Given the description of an element on the screen output the (x, y) to click on. 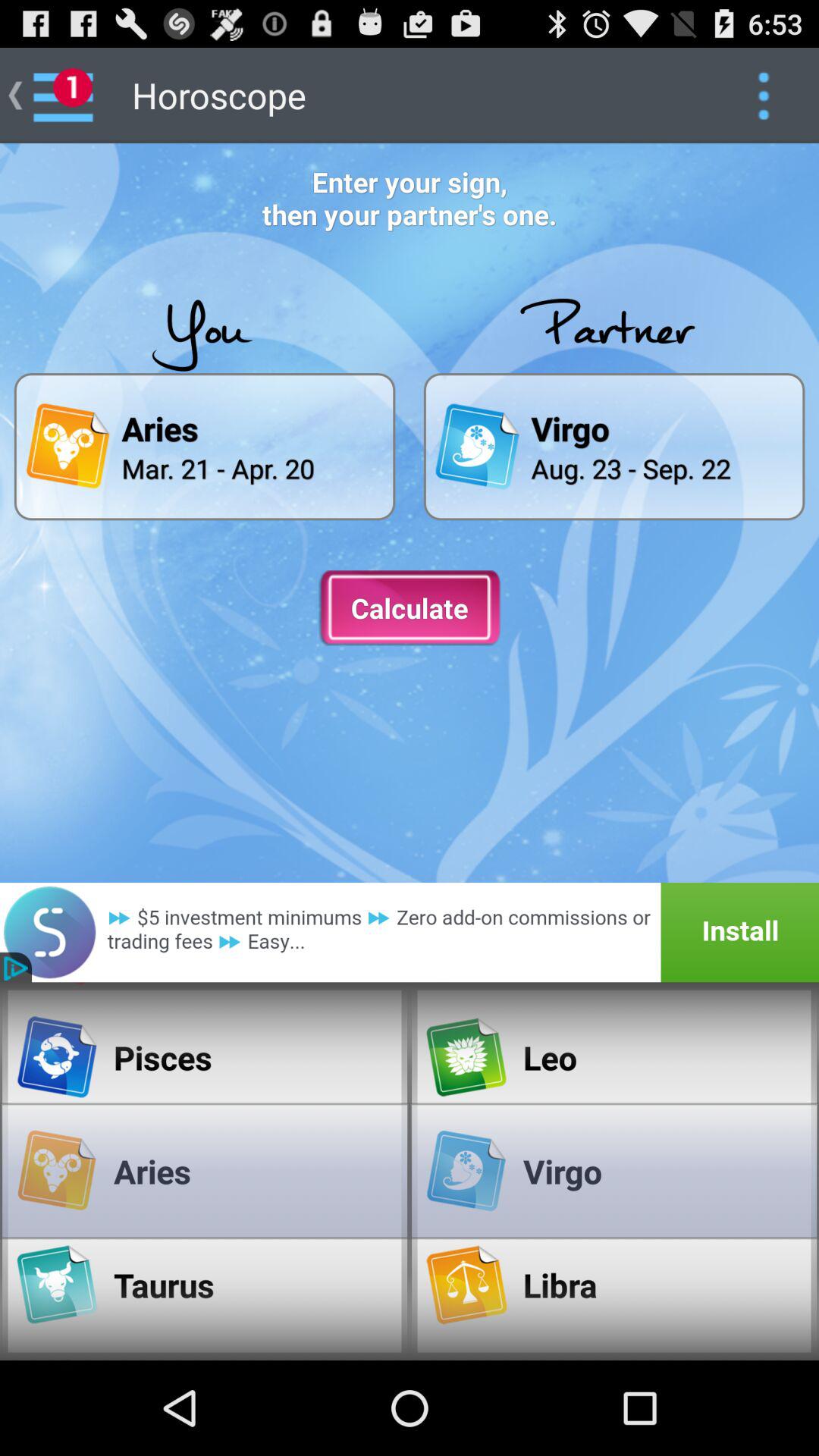
select advertisement (409, 932)
